Given the description of an element on the screen output the (x, y) to click on. 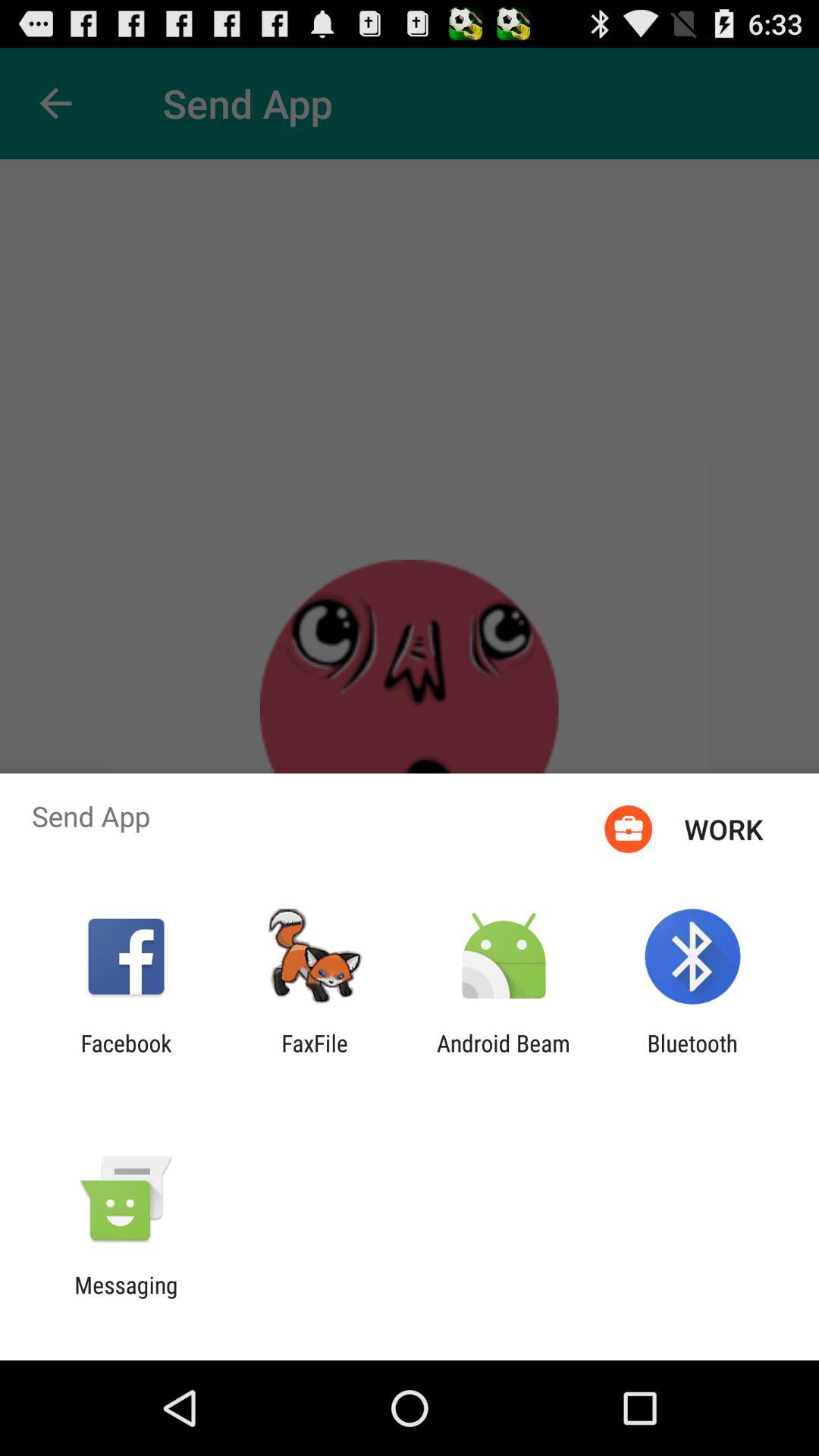
jump to the faxfile item (314, 1056)
